Given the description of an element on the screen output the (x, y) to click on. 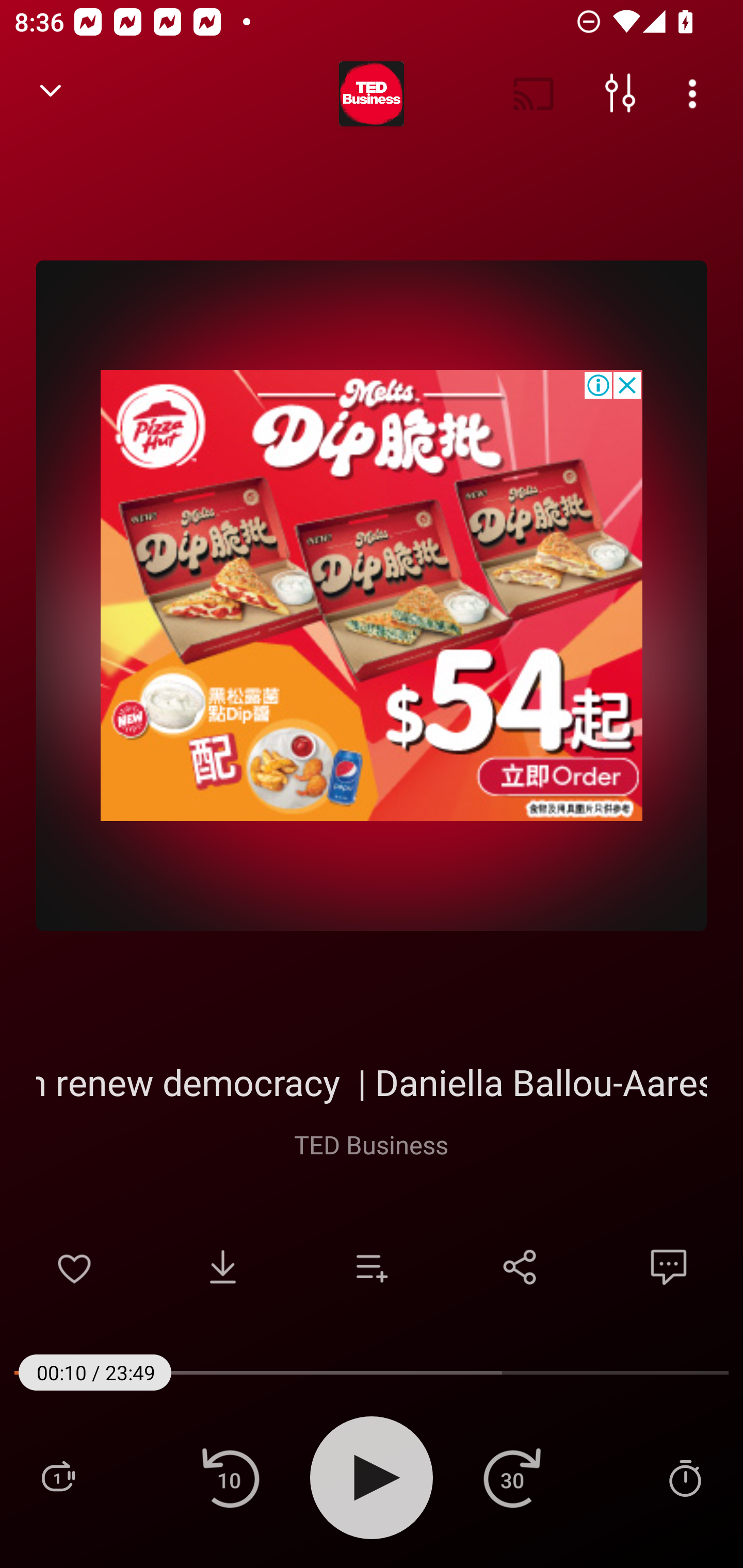
Cast. Disconnected (533, 93)
 Back (50, 94)
Advertisement (371, 595)
TED Business (370, 1144)
Comments (668, 1266)
Add to Favorites (73, 1266)
Add to playlist (371, 1266)
Share (519, 1266)
 Playlist (57, 1477)
Sleep Timer  (684, 1477)
